Given the description of an element on the screen output the (x, y) to click on. 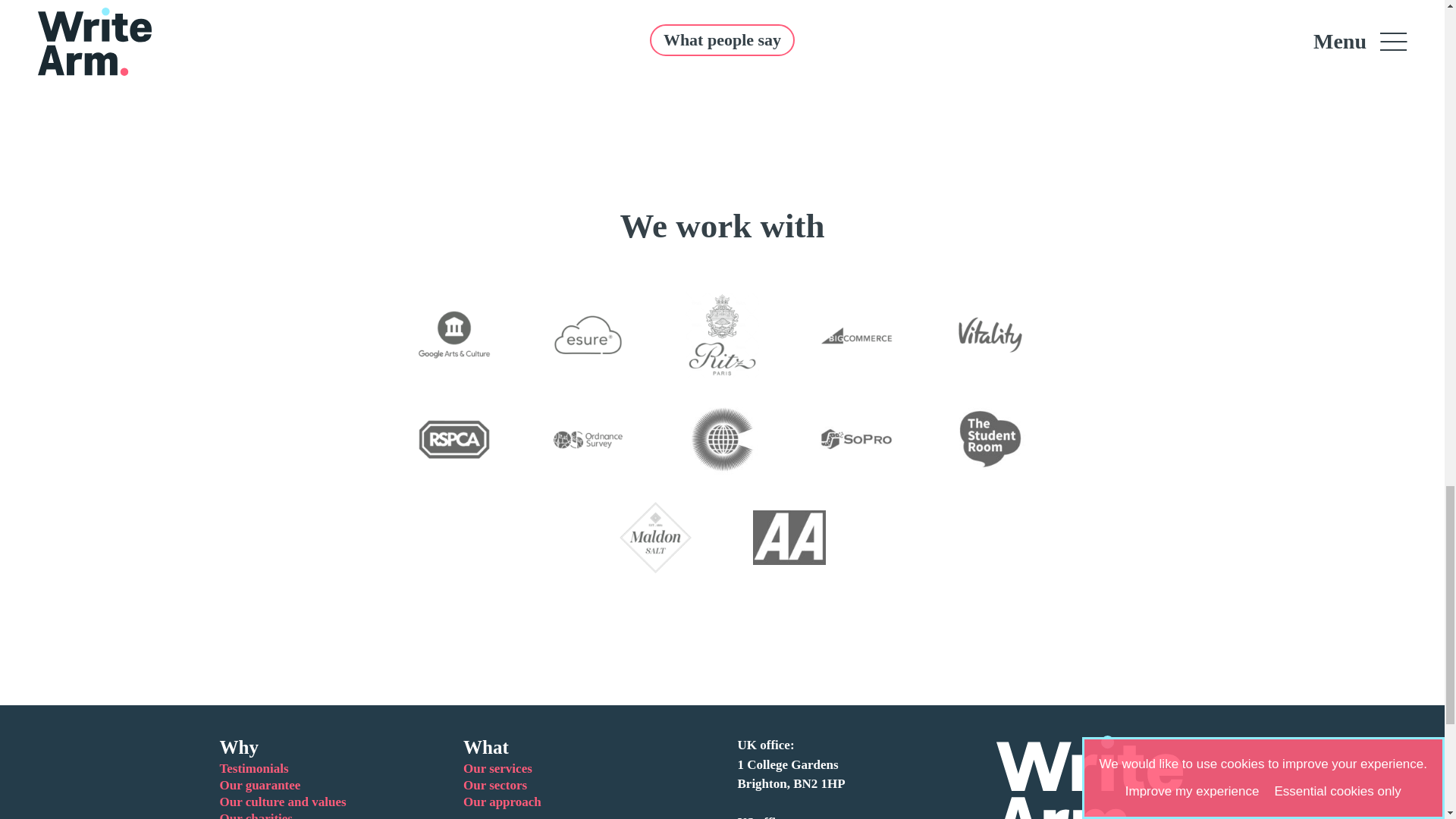
What people say (721, 40)
